Given the description of an element on the screen output the (x, y) to click on. 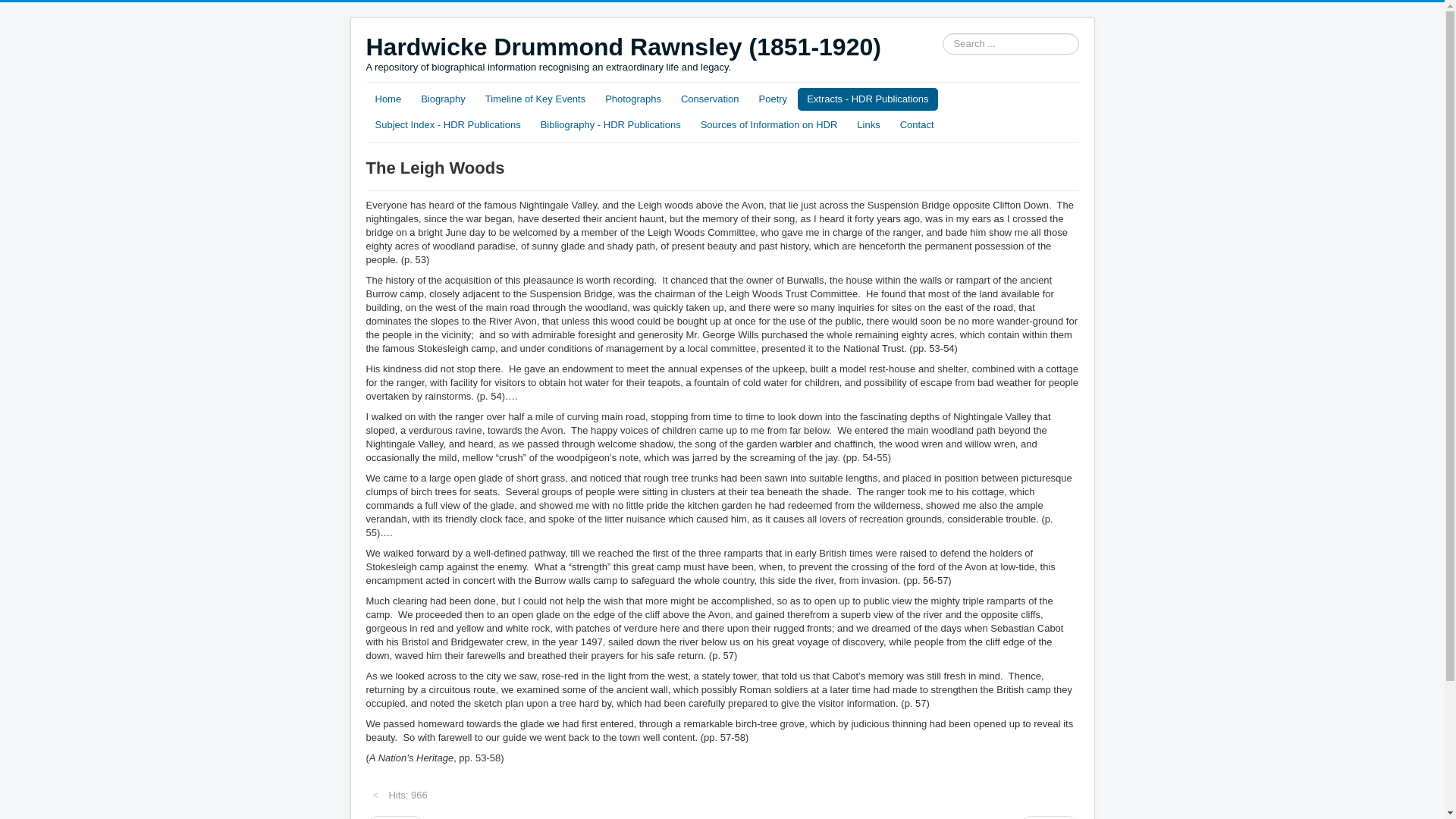
Timeline of Key Events (535, 98)
Biography (443, 98)
Hardwicke Drummond Rawnsley (622, 46)
Home (387, 98)
